Given the description of an element on the screen output the (x, y) to click on. 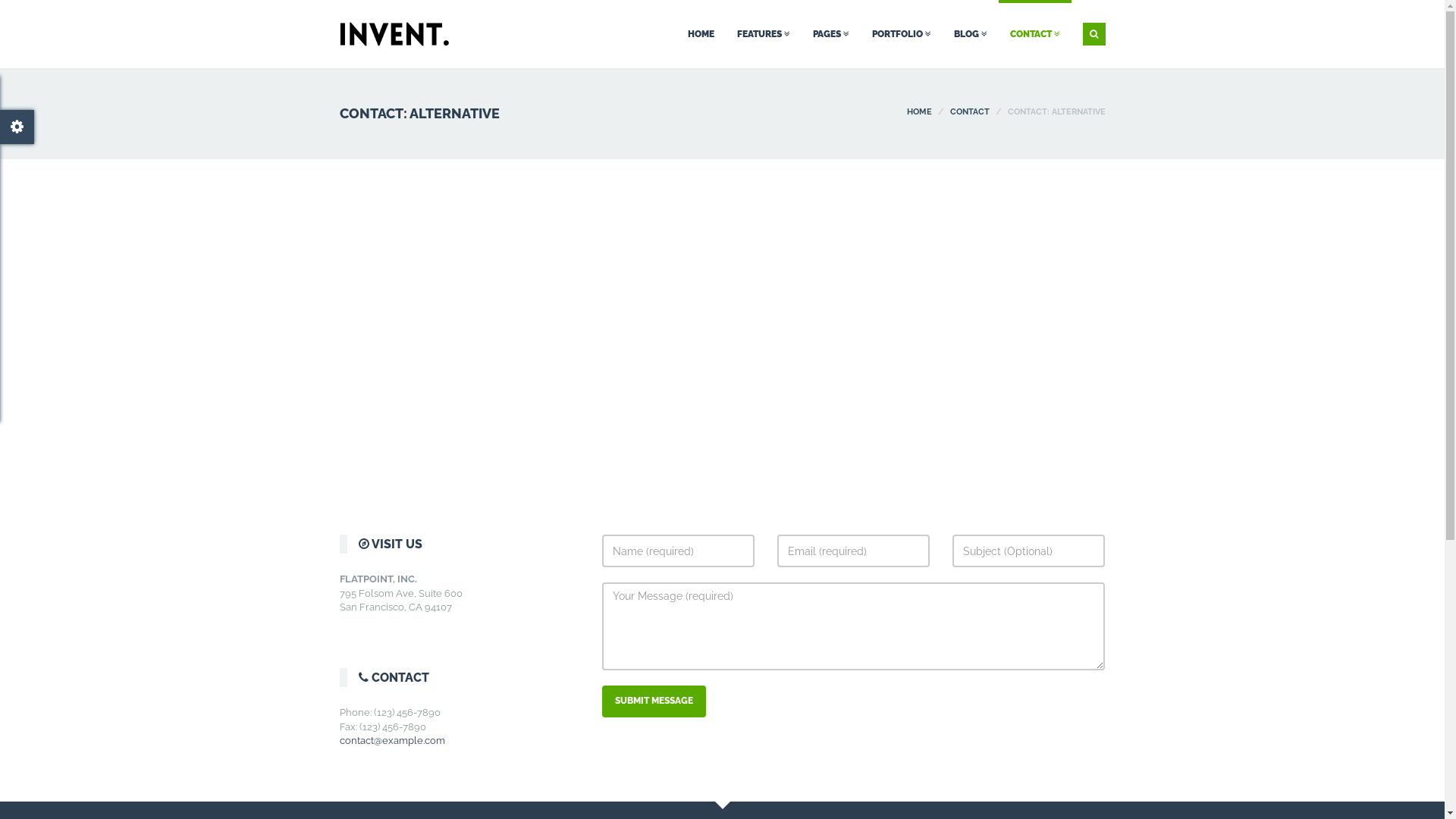
contact@example.com Element type: text (392, 740)
CONTACT Element type: text (1033, 34)
CONTACT Element type: text (968, 111)
HOME Element type: text (918, 111)
FEATURES Element type: text (762, 34)
HOME Element type: text (700, 34)
PAGES Element type: text (829, 34)
SUBMIT MESSAGE Element type: text (654, 700)
BLOG Element type: text (969, 34)
PORTFOLIO Element type: text (900, 34)
